Given the description of an element on the screen output the (x, y) to click on. 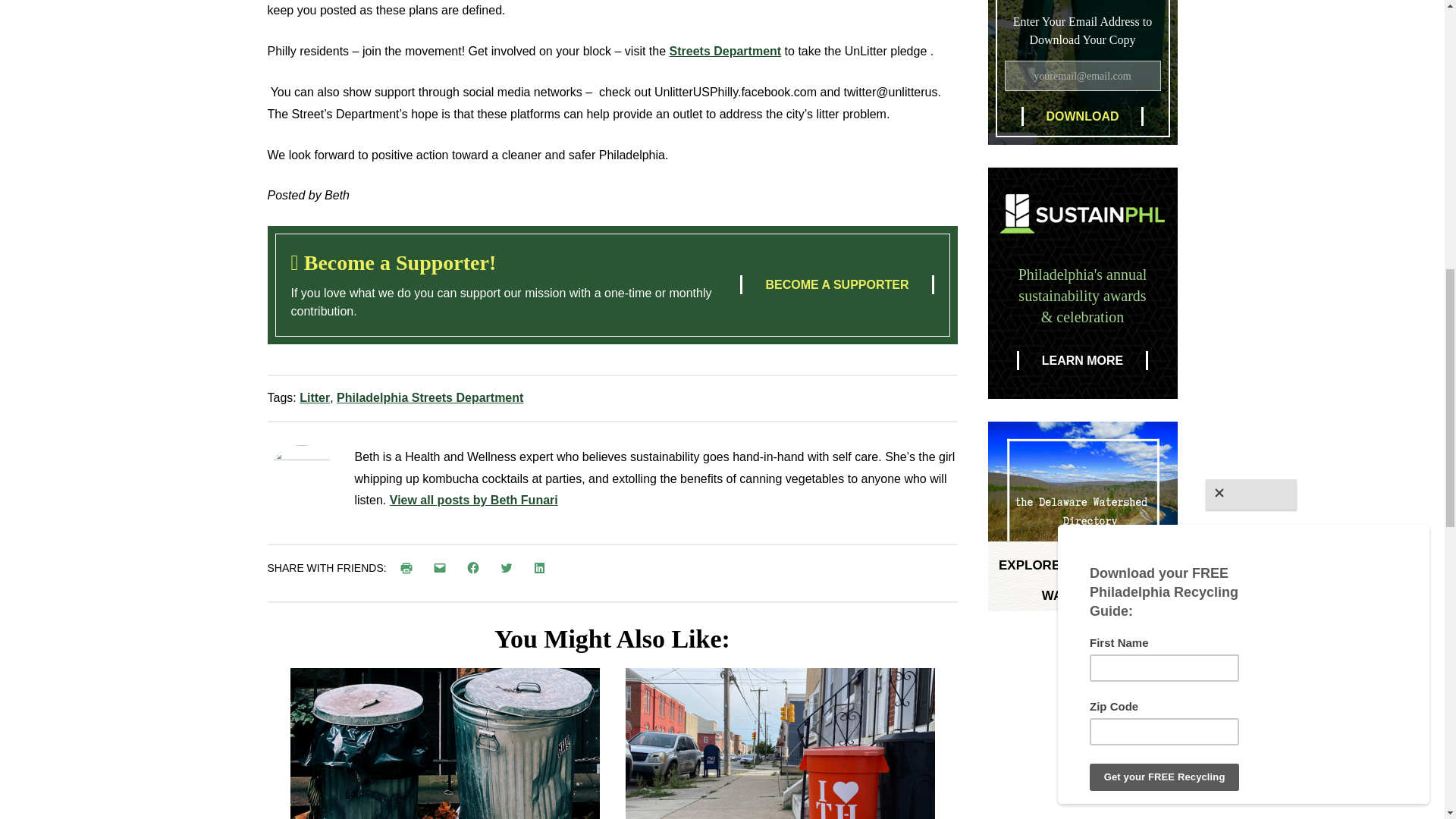
Street's Department (725, 51)
Click to print (409, 567)
Click to email a link to a friend (443, 567)
download (1081, 116)
